Given the description of an element on the screen output the (x, y) to click on. 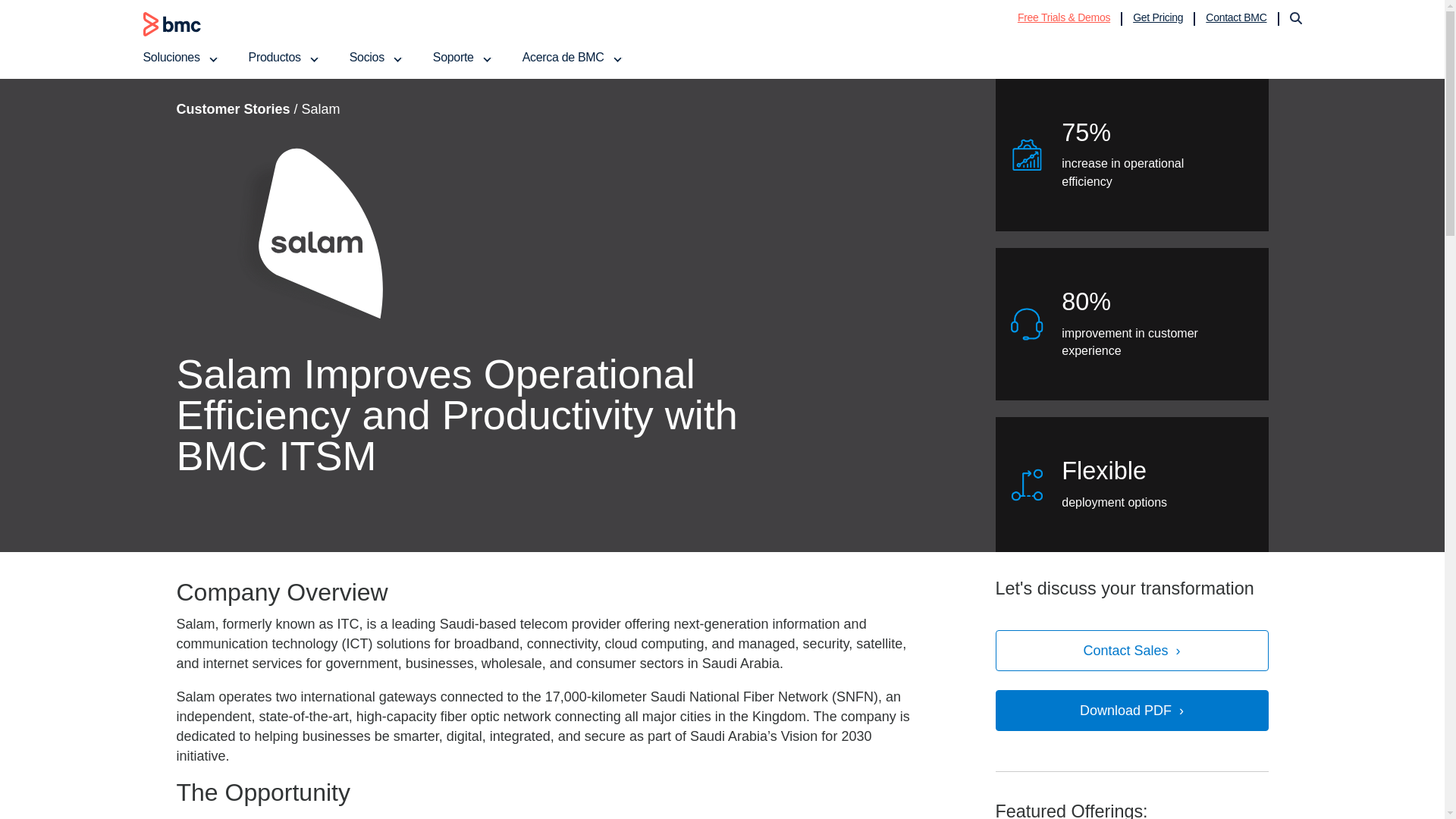
Socios (376, 56)
Productos (283, 56)
Acerca de BMC (572, 56)
Soporte (462, 56)
Contact BMC (1235, 17)
Get Pricing (1157, 17)
Soluciones (179, 56)
